Given the description of an element on the screen output the (x, y) to click on. 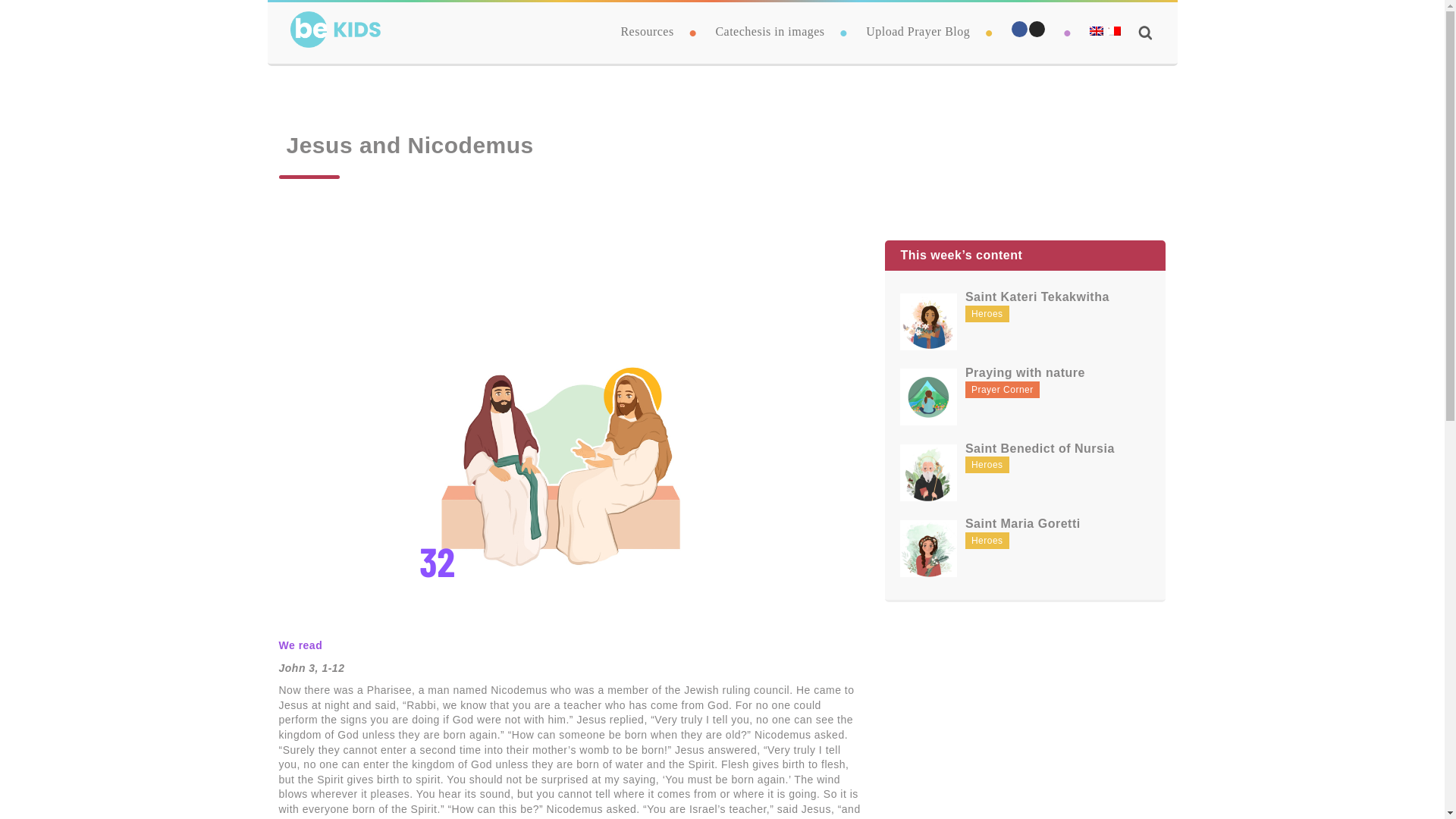
Praying with nature (1024, 372)
Saint Benedict of Nursia (1040, 449)
Catechesis in images (769, 31)
Resources (646, 31)
Heroes (987, 540)
Saint Maria Goretti (1022, 523)
Heroes (987, 464)
Upload Prayer Blog (917, 31)
Heroes (987, 313)
Saint Kateri Tekakwitha (1037, 297)
Search (890, 409)
Prayer Corner (1002, 389)
